Given the description of an element on the screen output the (x, y) to click on. 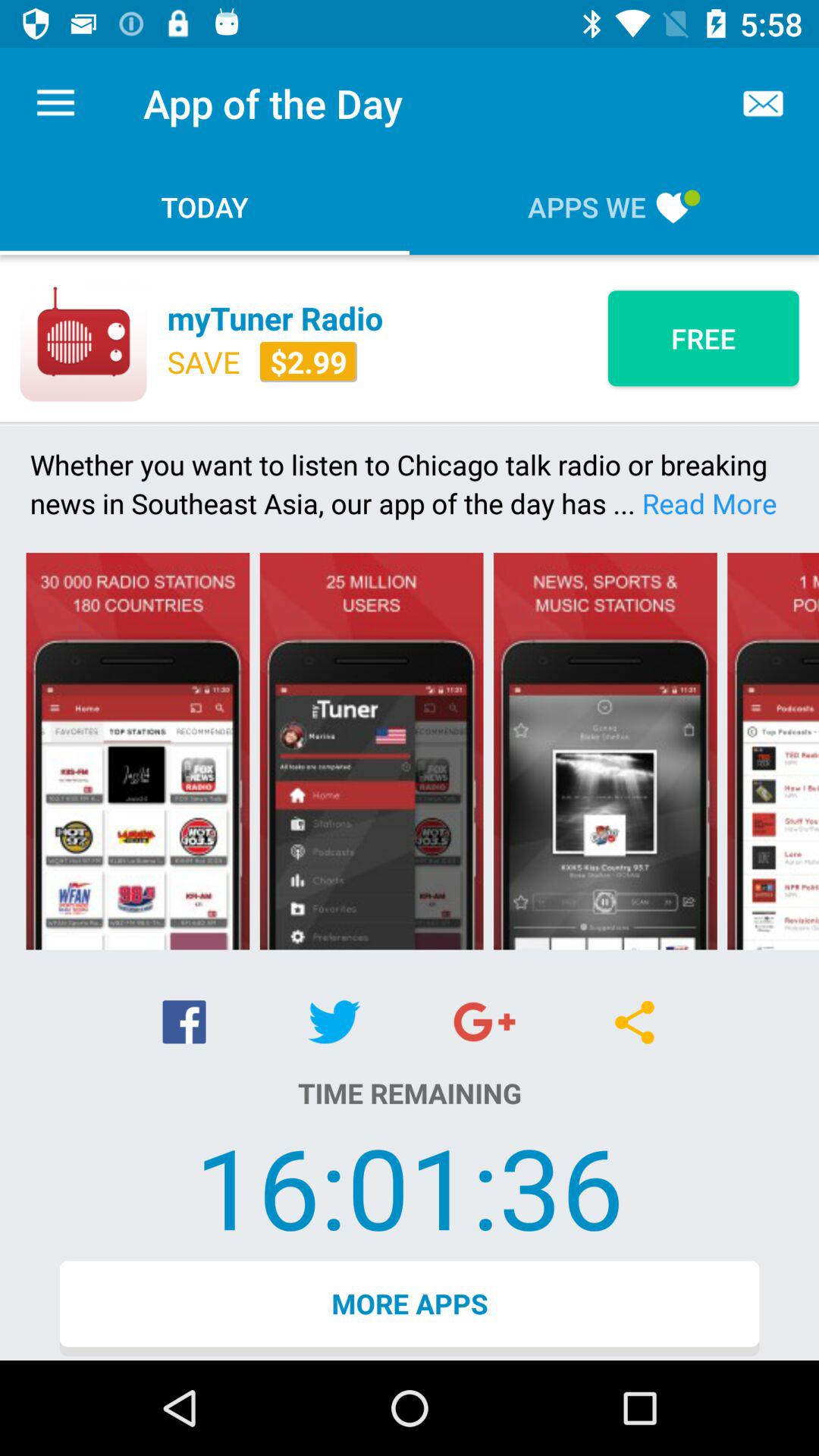
choose icon above the time remaining item (184, 1021)
